Given the description of an element on the screen output the (x, y) to click on. 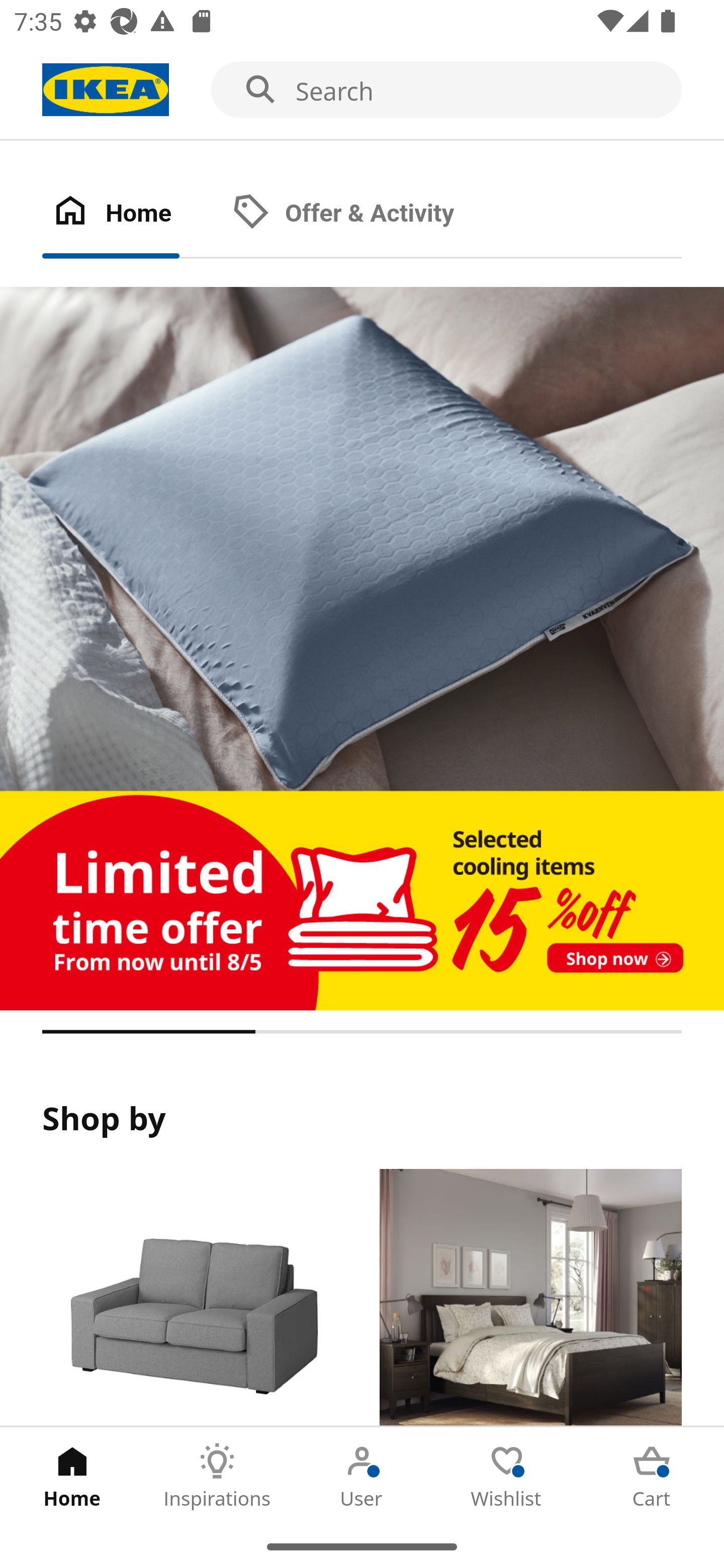
Search (361, 90)
Home
Tab 1 of 2 (131, 213)
Offer & Activity
Tab 2 of 2 (363, 213)
Products (192, 1297)
Rooms (530, 1297)
Home
Tab 1 of 5 (72, 1476)
Inspirations
Tab 2 of 5 (216, 1476)
User
Tab 3 of 5 (361, 1476)
Wishlist
Tab 4 of 5 (506, 1476)
Cart
Tab 5 of 5 (651, 1476)
